Given the description of an element on the screen output the (x, y) to click on. 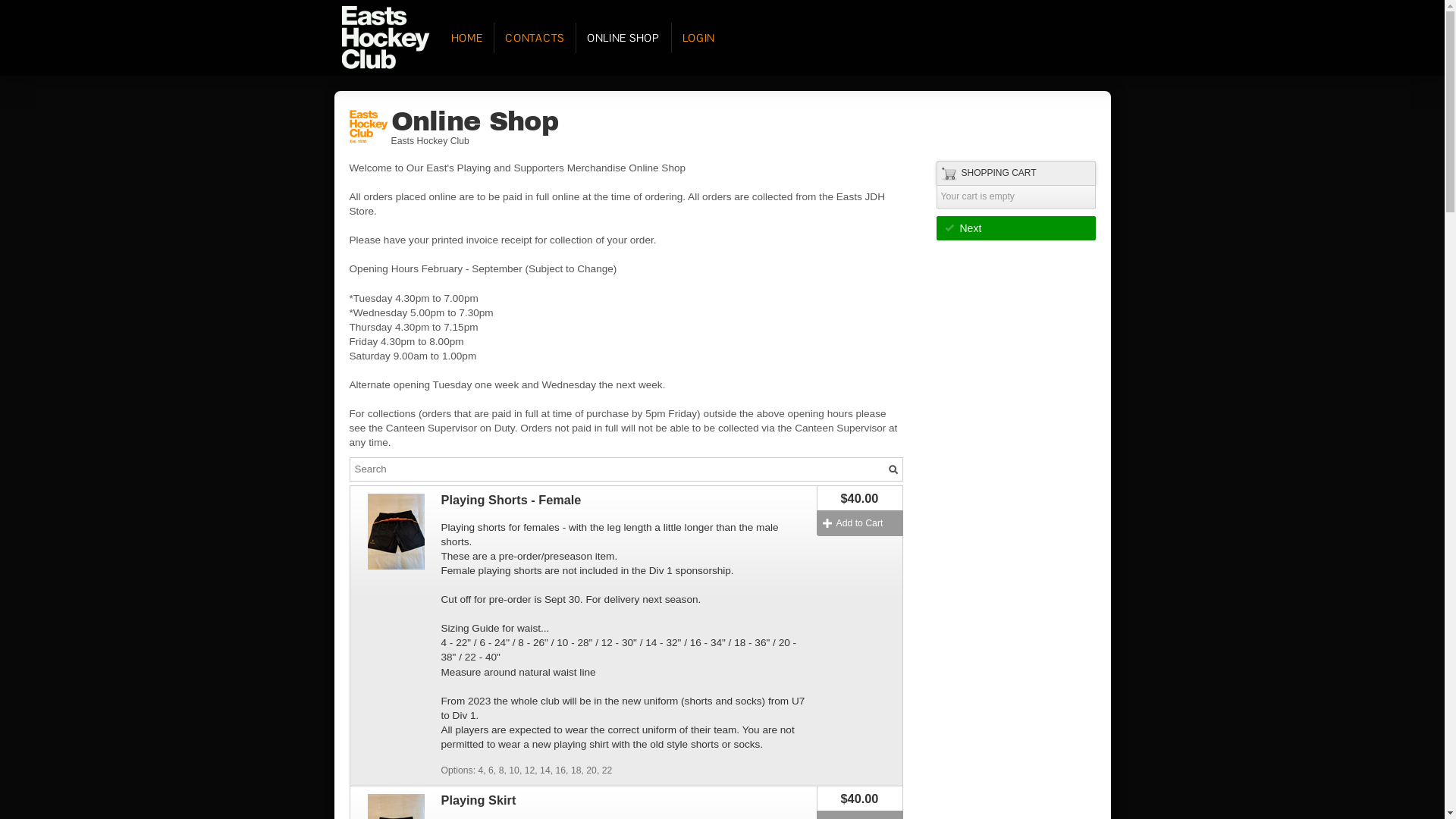
HOME Element type: text (465, 37)
Add to Cart Element type: text (858, 523)
CONTACTS Element type: text (533, 37)
Next Element type: text (1015, 228)
LOGIN Element type: text (698, 37)
ONLINE SHOP Element type: text (622, 37)
